Given the description of an element on the screen output the (x, y) to click on. 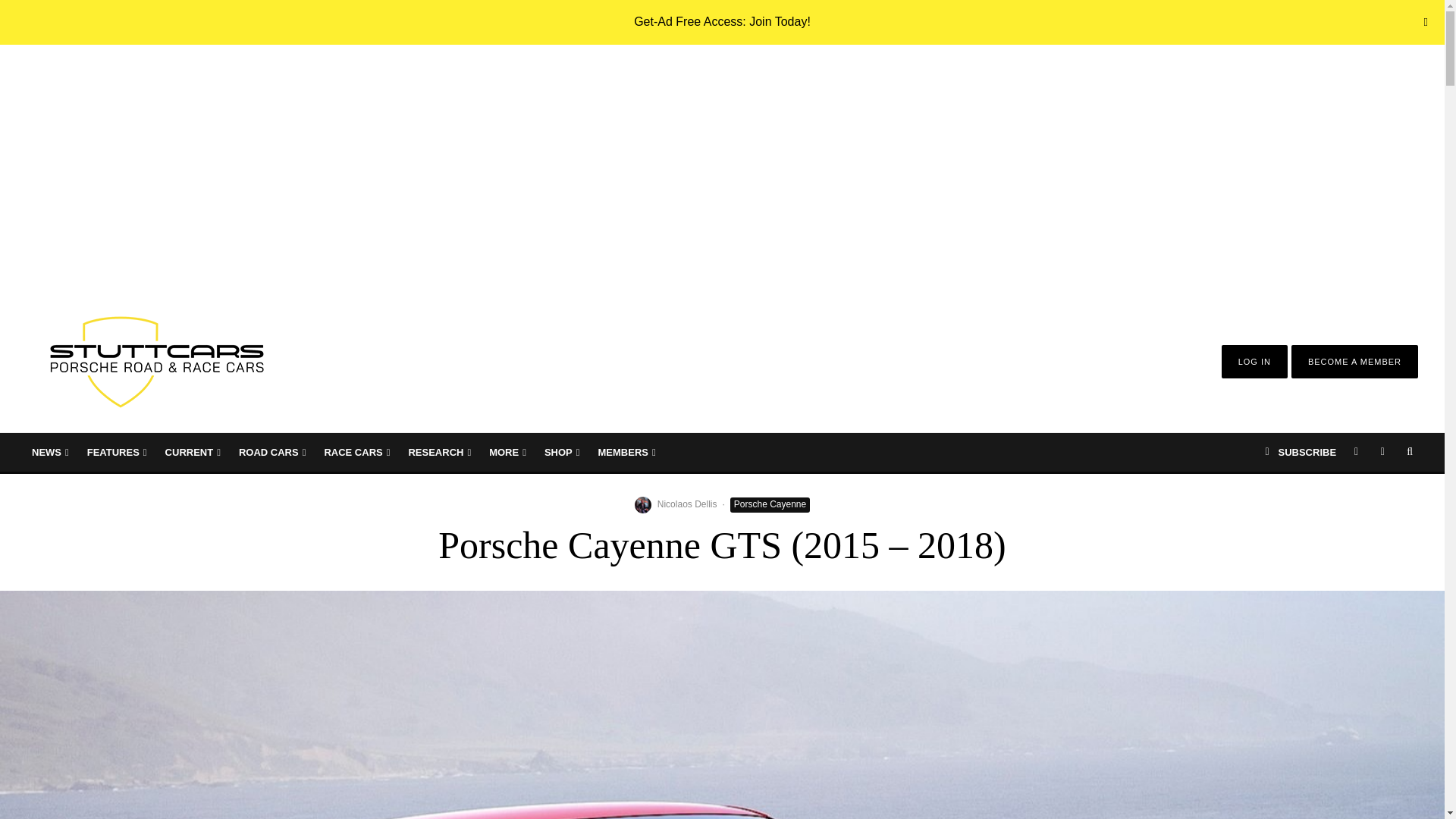
NEWS (50, 452)
ROAD CARS (272, 452)
BECOME A MEMBER (1353, 361)
Get-Ad Free Access: Join Today! (721, 21)
FEATURES (116, 452)
CURRENT (192, 452)
LOG IN (1255, 361)
Get-Ad Free Access: Join Today! (721, 21)
